Given the description of an element on the screen output the (x, y) to click on. 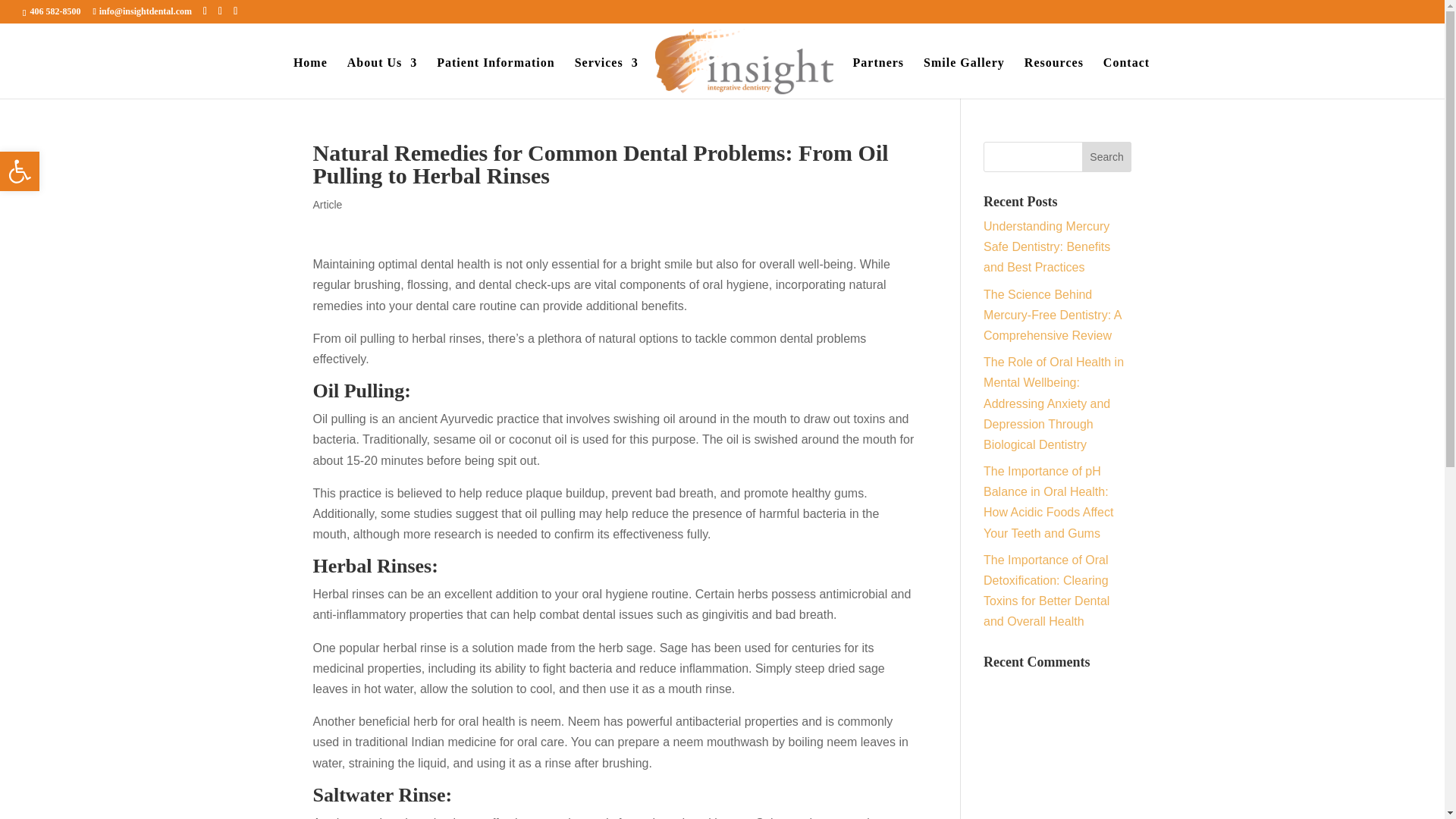
Partners (878, 77)
About Us (381, 77)
Search (1106, 156)
Accessibility Tools (19, 170)
406 582-8500 (19, 170)
Accessibility Tools (53, 10)
Services (19, 170)
Patient Information (607, 77)
